Given the description of an element on the screen output the (x, y) to click on. 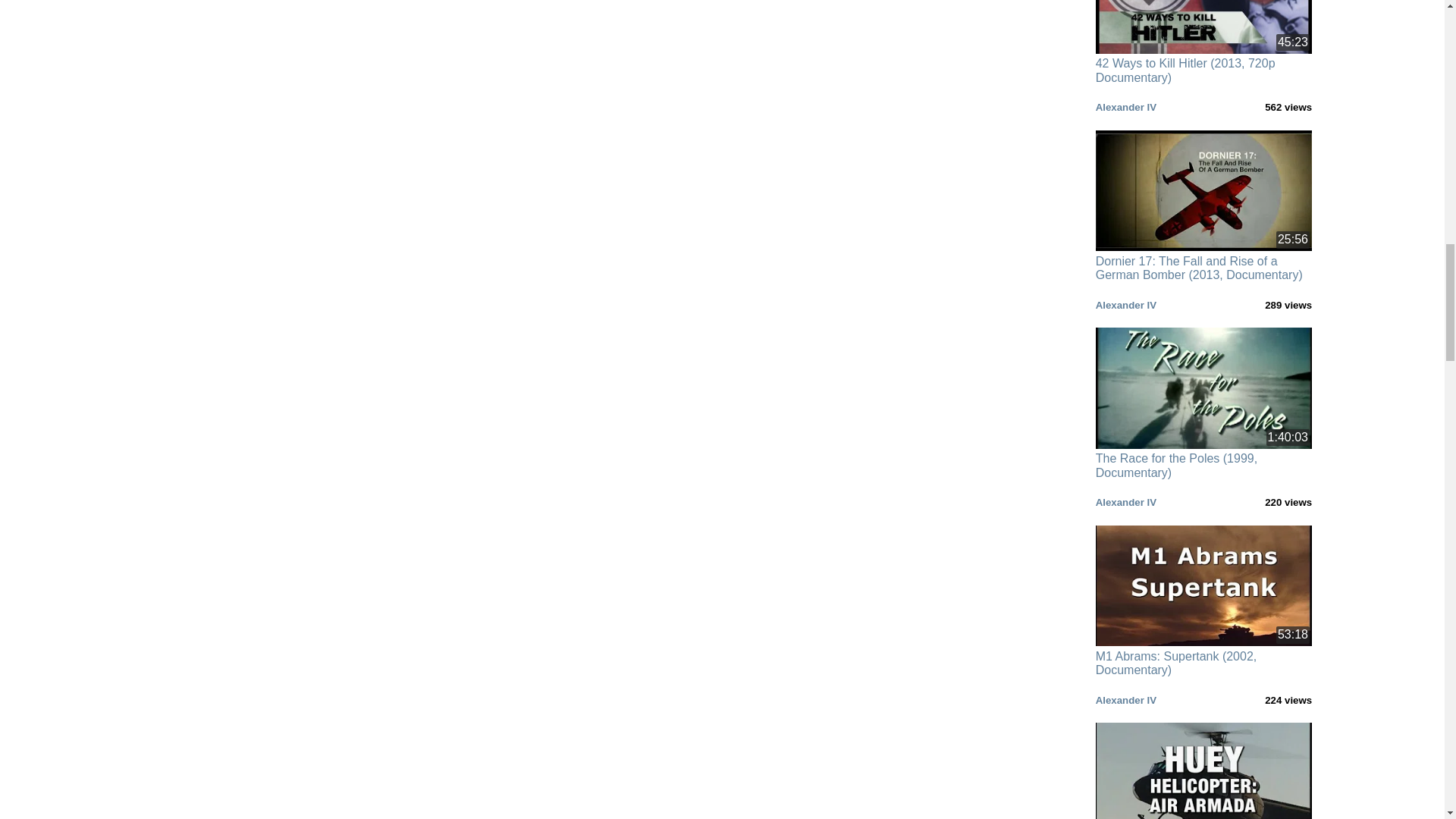
Alexander IV (1126, 699)
Alexander IV (1126, 305)
Alexander IV (1126, 107)
Alexander IV (1126, 501)
